Given the description of an element on the screen output the (x, y) to click on. 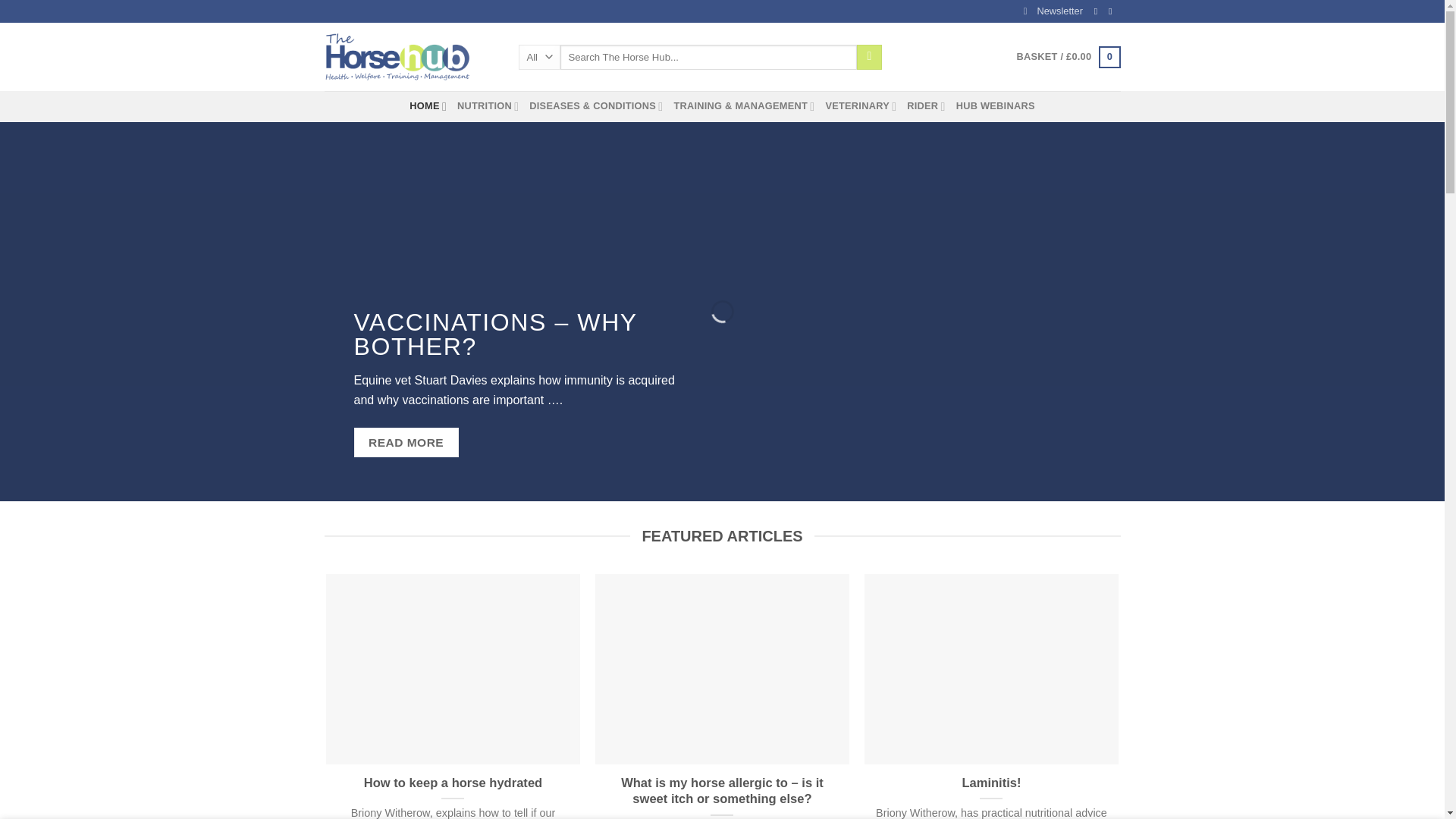
HOME (427, 105)
HUB WEBINARS (995, 105)
READ MORE (405, 442)
Basket (1067, 57)
RIDER (925, 105)
Search (869, 57)
NUTRITION (487, 105)
Sign up for Newsletter (1053, 11)
Newsletter (1053, 11)
VETERINARY (860, 105)
